Given the description of an element on the screen output the (x, y) to click on. 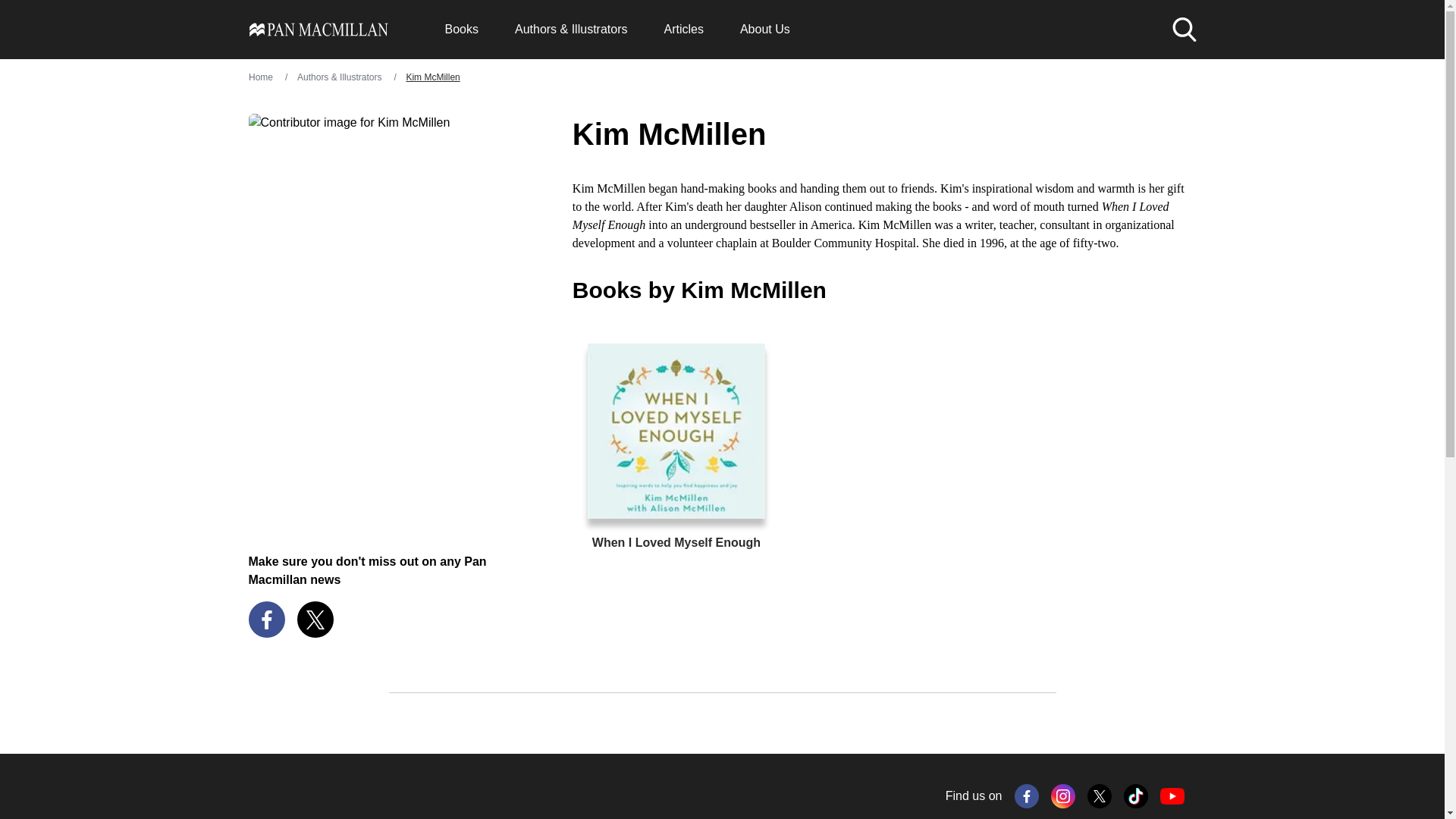
Share on Facebook (266, 619)
Instagram (1063, 795)
Books (460, 29)
Facebook (1026, 795)
